Given the description of an element on the screen output the (x, y) to click on. 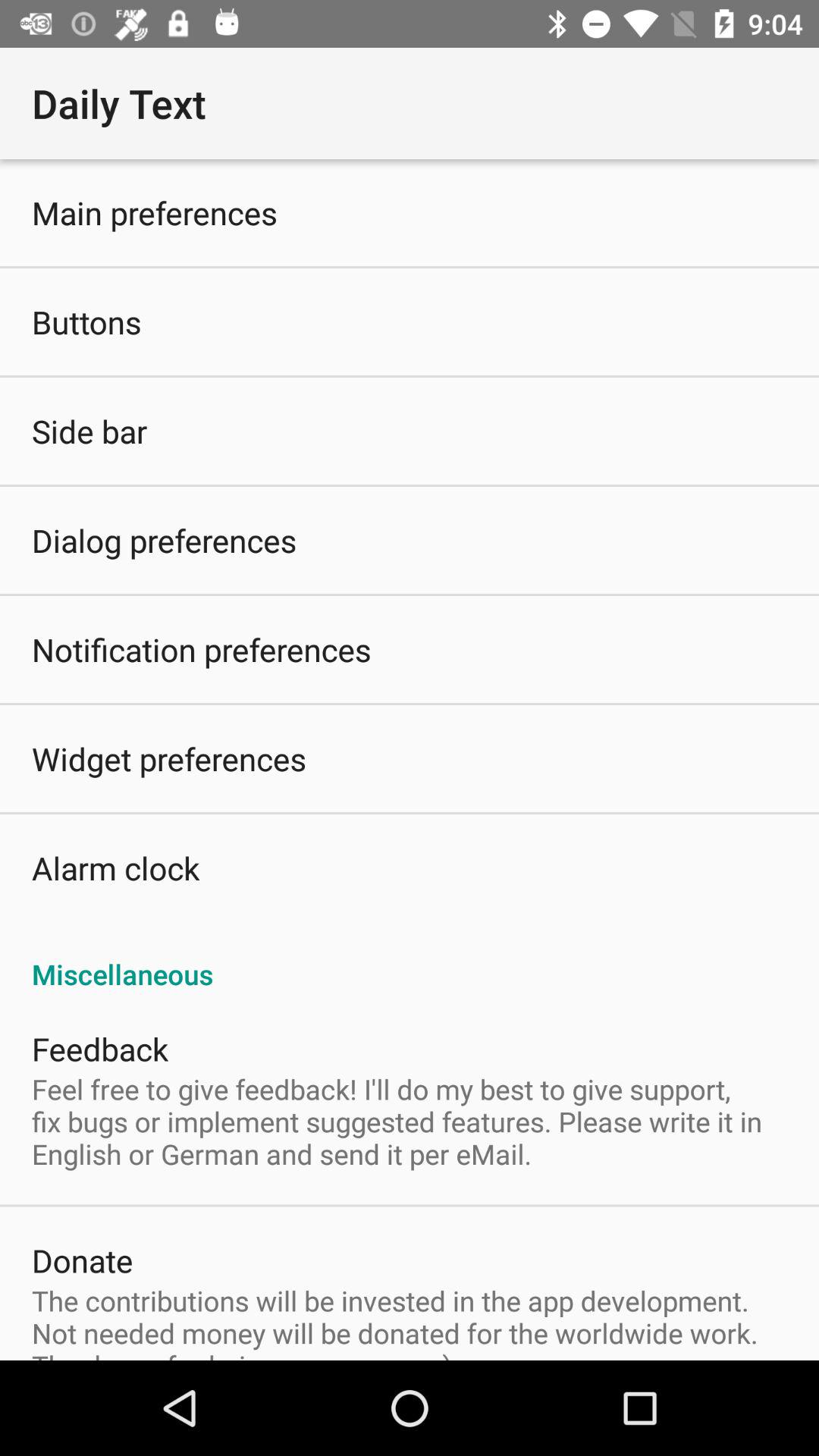
turn on dialog preferences icon (163, 539)
